Given the description of an element on the screen output the (x, y) to click on. 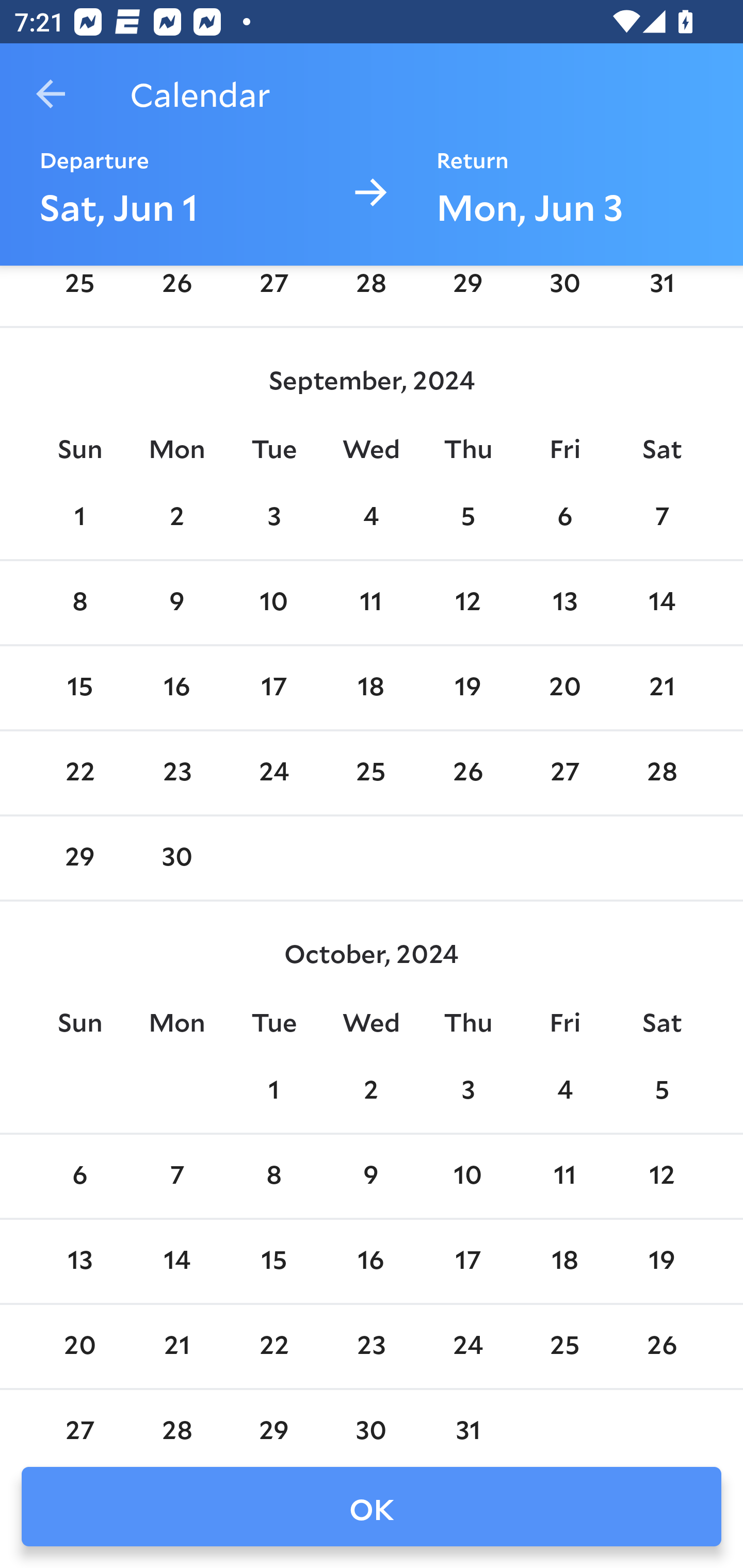
Navigate up (50, 93)
25 (79, 292)
26 (177, 292)
27 (273, 292)
28 (371, 292)
29 (467, 292)
30 (565, 292)
31 (661, 292)
1 (79, 517)
2 (177, 517)
3 (273, 517)
4 (371, 517)
5 (467, 517)
6 (565, 517)
7 (661, 517)
8 (79, 603)
9 (177, 603)
10 (273, 603)
11 (371, 603)
12 (467, 603)
13 (565, 603)
14 (661, 603)
15 (79, 688)
16 (177, 688)
17 (273, 688)
18 (371, 688)
19 (467, 688)
20 (565, 688)
21 (661, 688)
22 (79, 772)
23 (177, 772)
24 (273, 772)
25 (371, 772)
26 (467, 772)
27 (565, 772)
28 (661, 772)
29 (79, 857)
30 (177, 857)
1 (273, 1091)
2 (371, 1091)
3 (467, 1091)
4 (565, 1091)
5 (661, 1091)
6 (79, 1175)
7 (177, 1175)
8 (273, 1175)
9 (371, 1175)
10 (467, 1175)
11 (565, 1175)
12 (661, 1175)
